Given the description of an element on the screen output the (x, y) to click on. 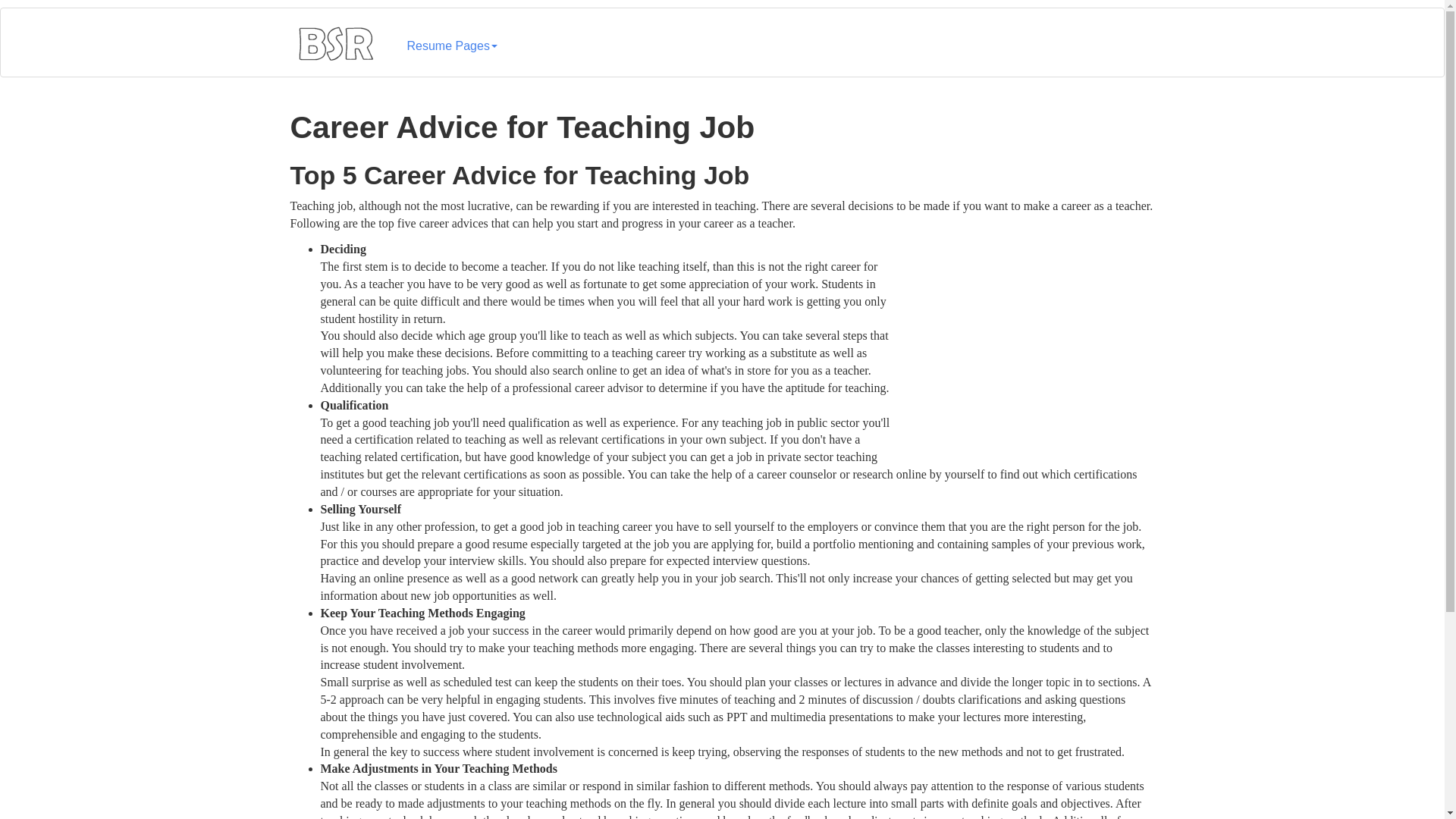
Best Sample Resume (334, 42)
Resume Pages (451, 38)
